Given the description of an element on the screen output the (x, y) to click on. 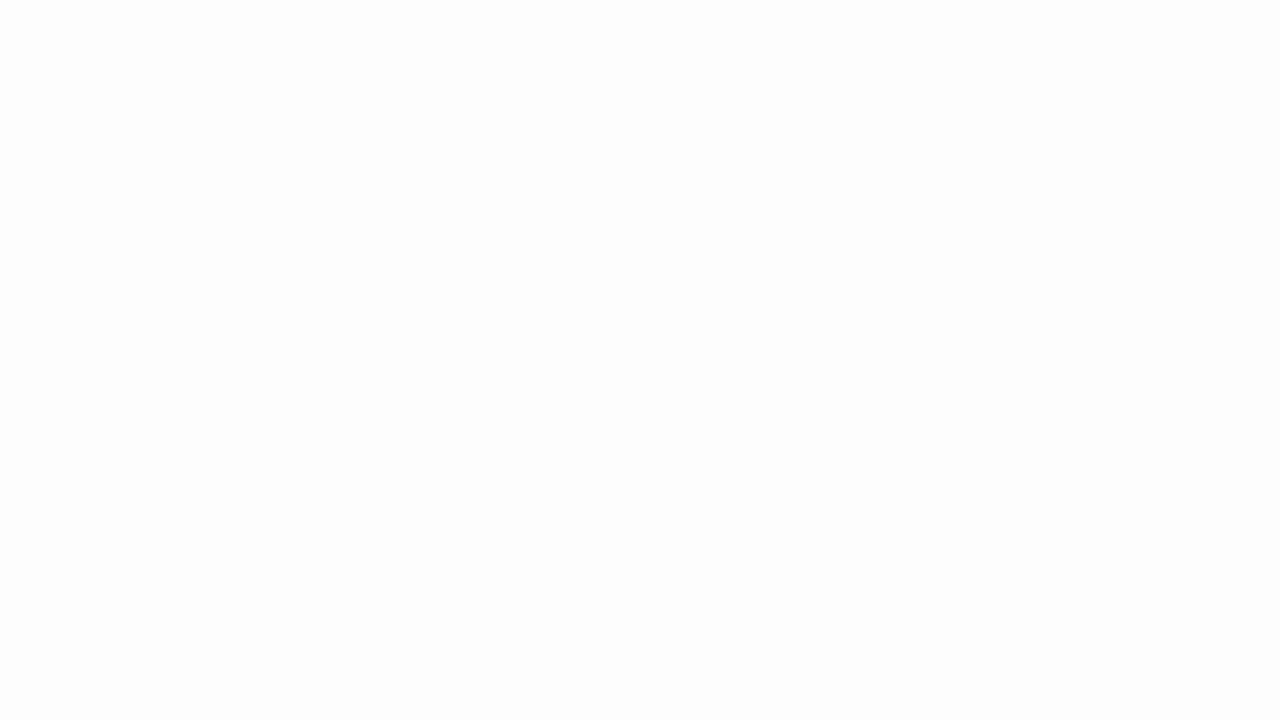
Underline (239, 119)
Increase Decimal (836, 119)
Number Format (794, 87)
Fill Color (331, 119)
Check Cell (1074, 114)
Accounting Number Format (741, 119)
Font Size (358, 87)
Format Cell Font (434, 151)
Show Phonetic Field (416, 119)
